Given the description of an element on the screen output the (x, y) to click on. 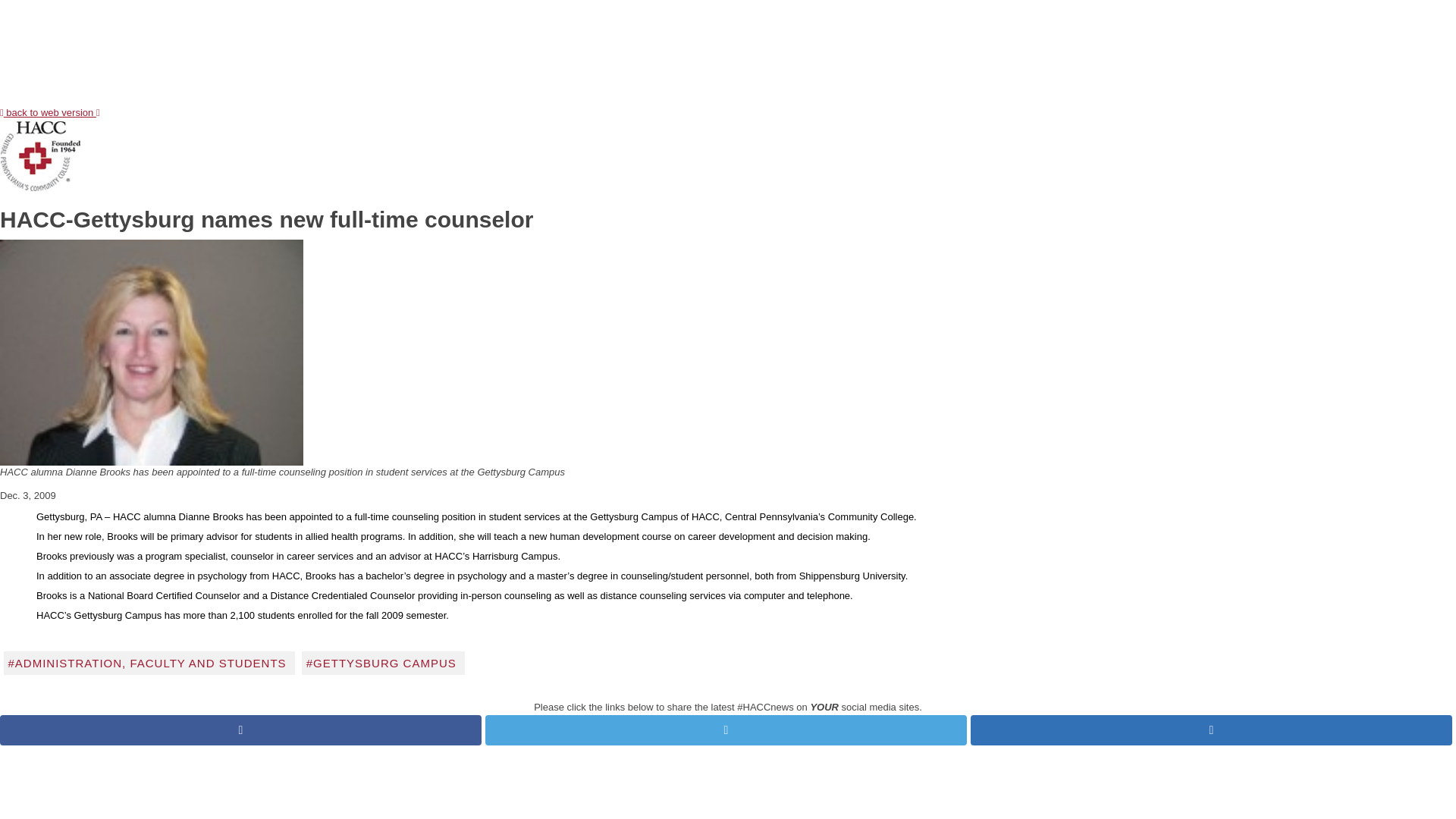
Dianne Brooks (151, 352)
back to web version (50, 112)
